Given the description of an element on the screen output the (x, y) to click on. 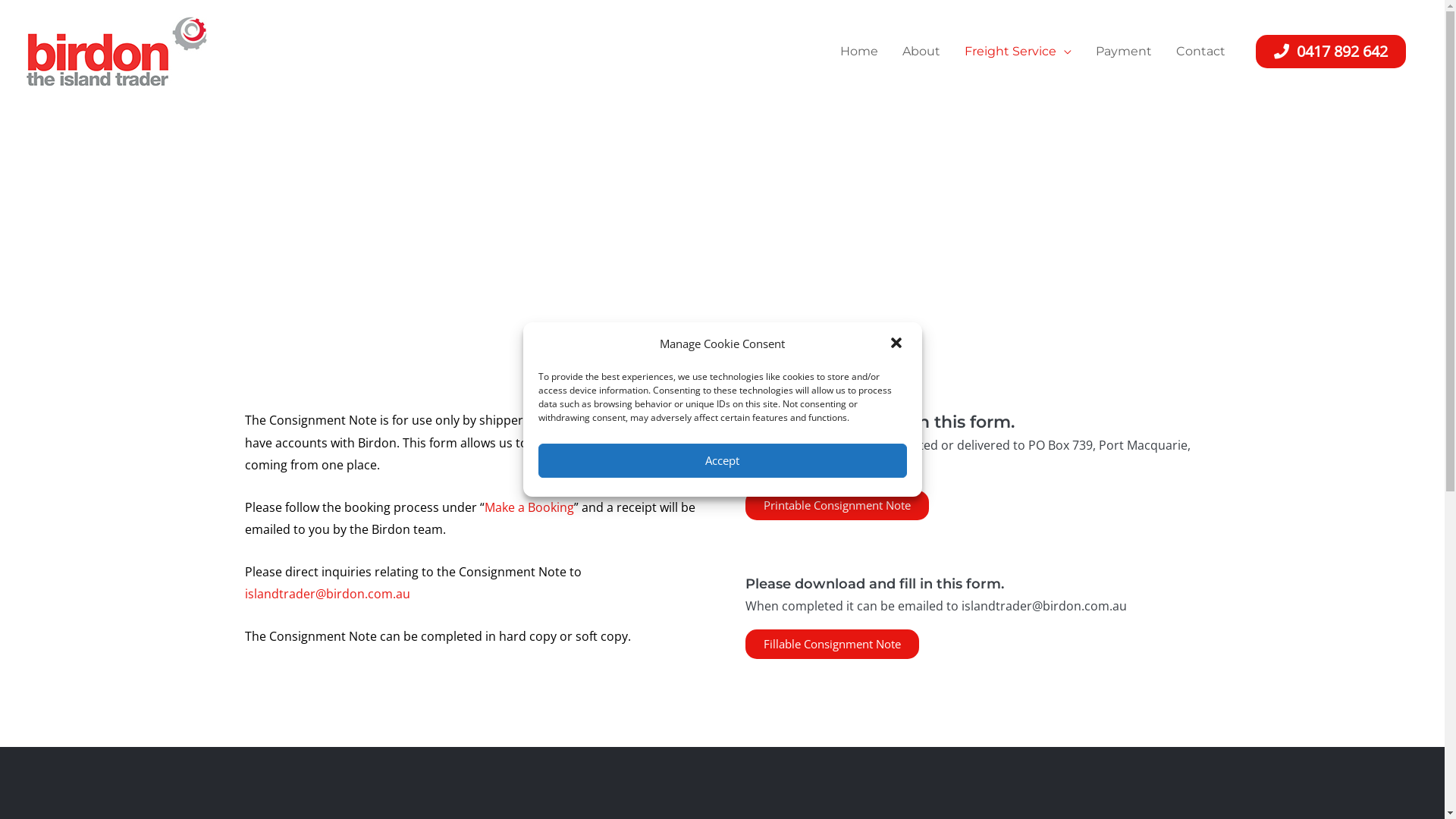
Printable Consignment Note Element type: text (836, 505)
Freight Service Element type: text (1017, 51)
Accept Element type: text (722, 460)
Fillable Consignment Note Element type: text (831, 643)
Make a Booking Element type: text (528, 506)
0417 892 642 Element type: text (1330, 51)
Contact Element type: text (1200, 51)
About Element type: text (921, 51)
Home Element type: text (859, 51)
islandtrader@birdon.com.au Element type: text (326, 593)
Payment Element type: text (1123, 51)
